Given the description of an element on the screen output the (x, y) to click on. 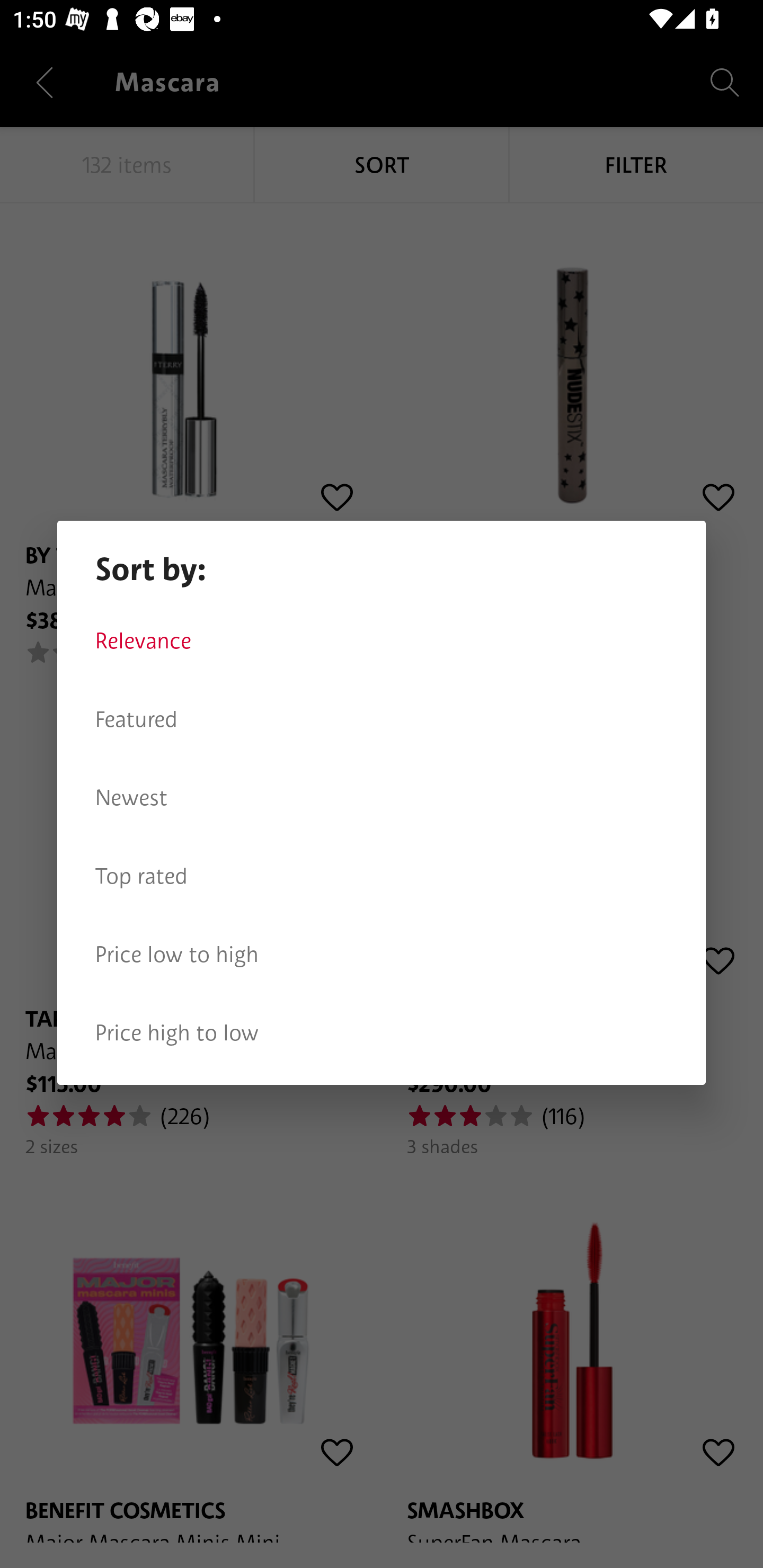
Relevance (381, 641)
Featured (381, 719)
Newest (381, 797)
Top rated (381, 876)
Price low to high (381, 954)
Price high to low (381, 1033)
